Given the description of an element on the screen output the (x, y) to click on. 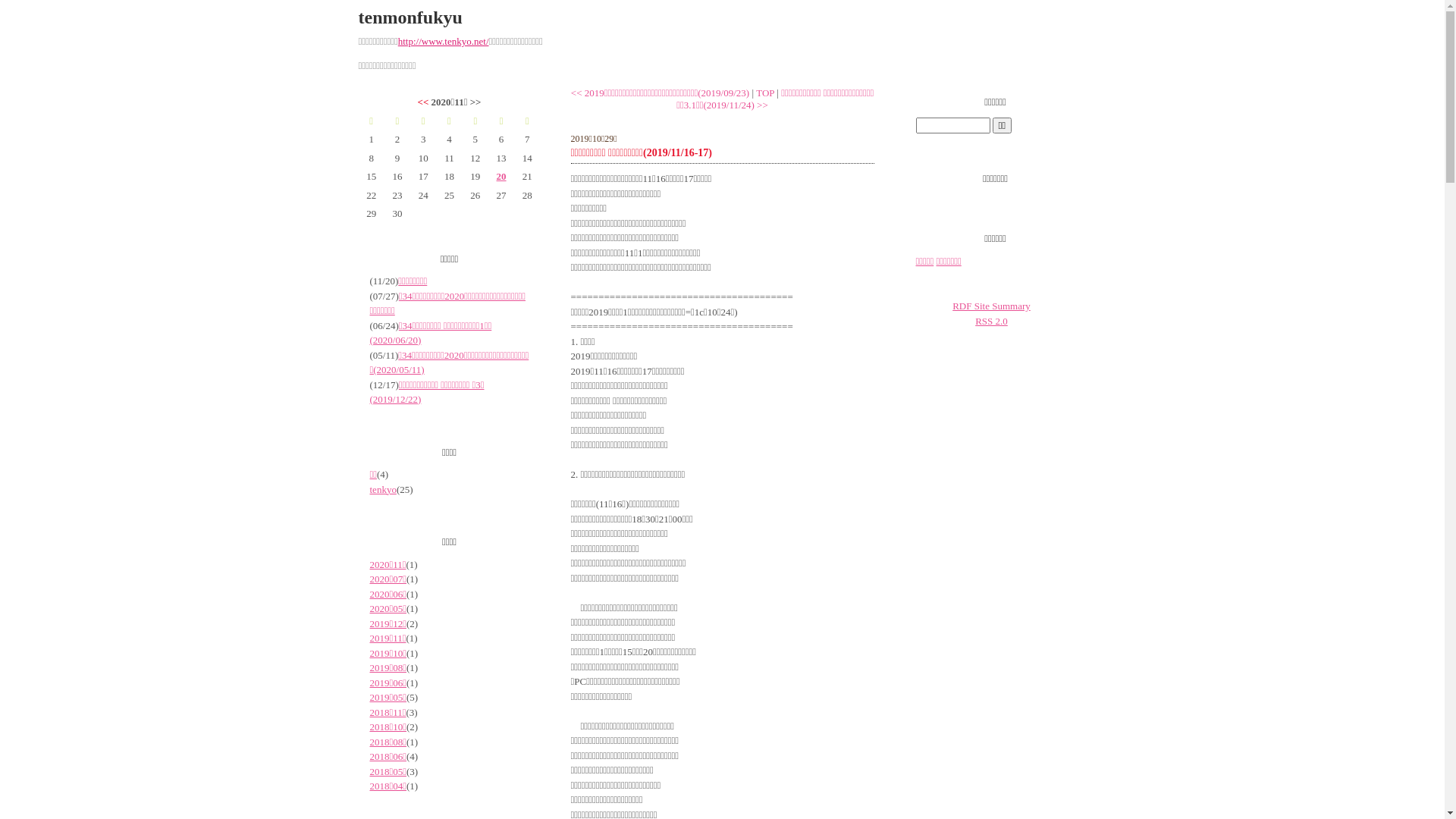
RSS 2.0 Element type: text (991, 320)
>> Element type: text (762, 104)
<< Element type: text (423, 101)
20 Element type: text (501, 176)
TOP Element type: text (765, 92)
http://www.tenkyo.net/ Element type: text (443, 41)
tenmonfukyu Element type: text (409, 17)
tenkyo Element type: text (383, 489)
RDF Site Summary Element type: text (991, 305)
<< Element type: text (576, 92)
